Given the description of an element on the screen output the (x, y) to click on. 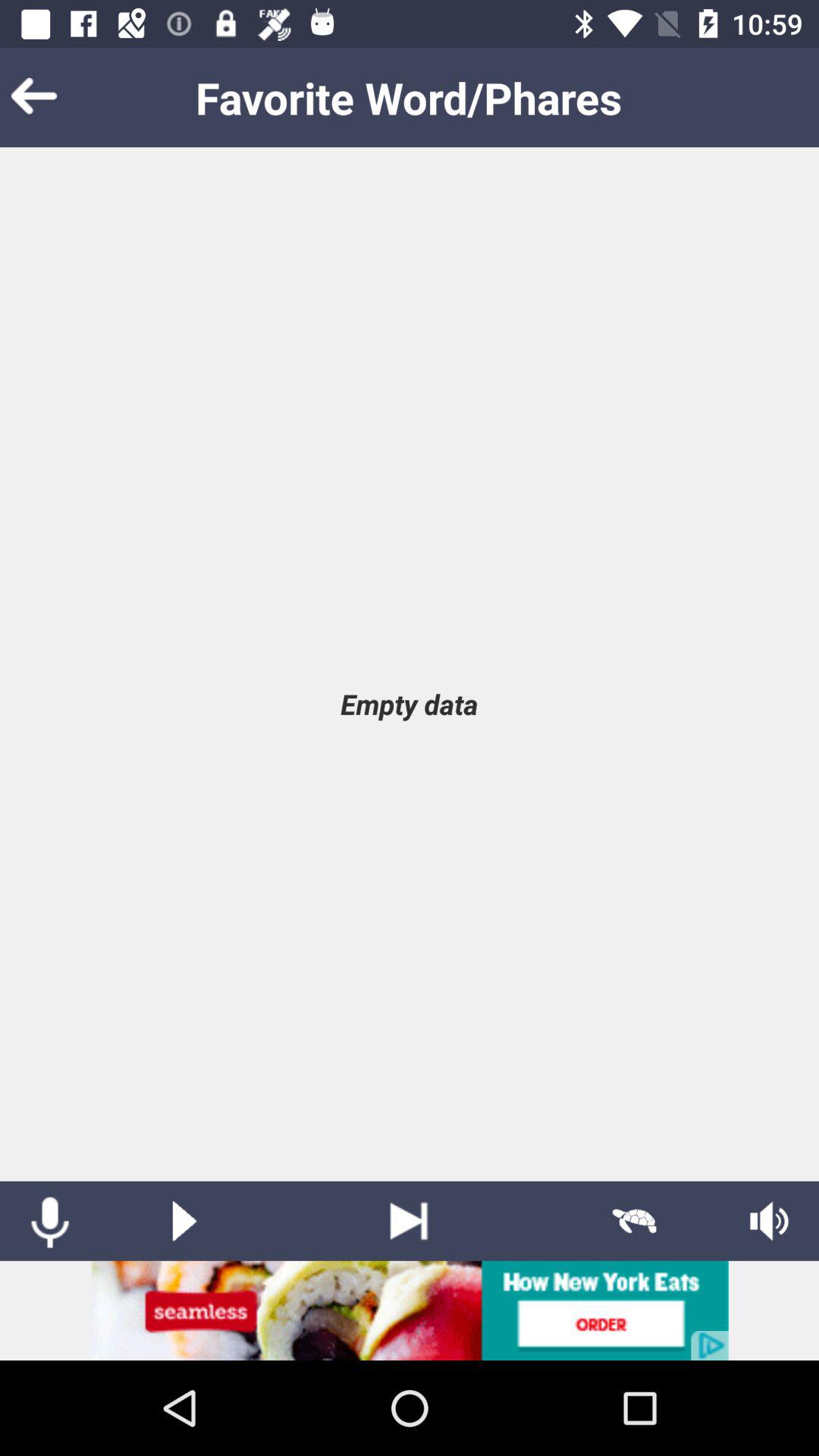
play next (408, 1220)
